Given the description of an element on the screen output the (x, y) to click on. 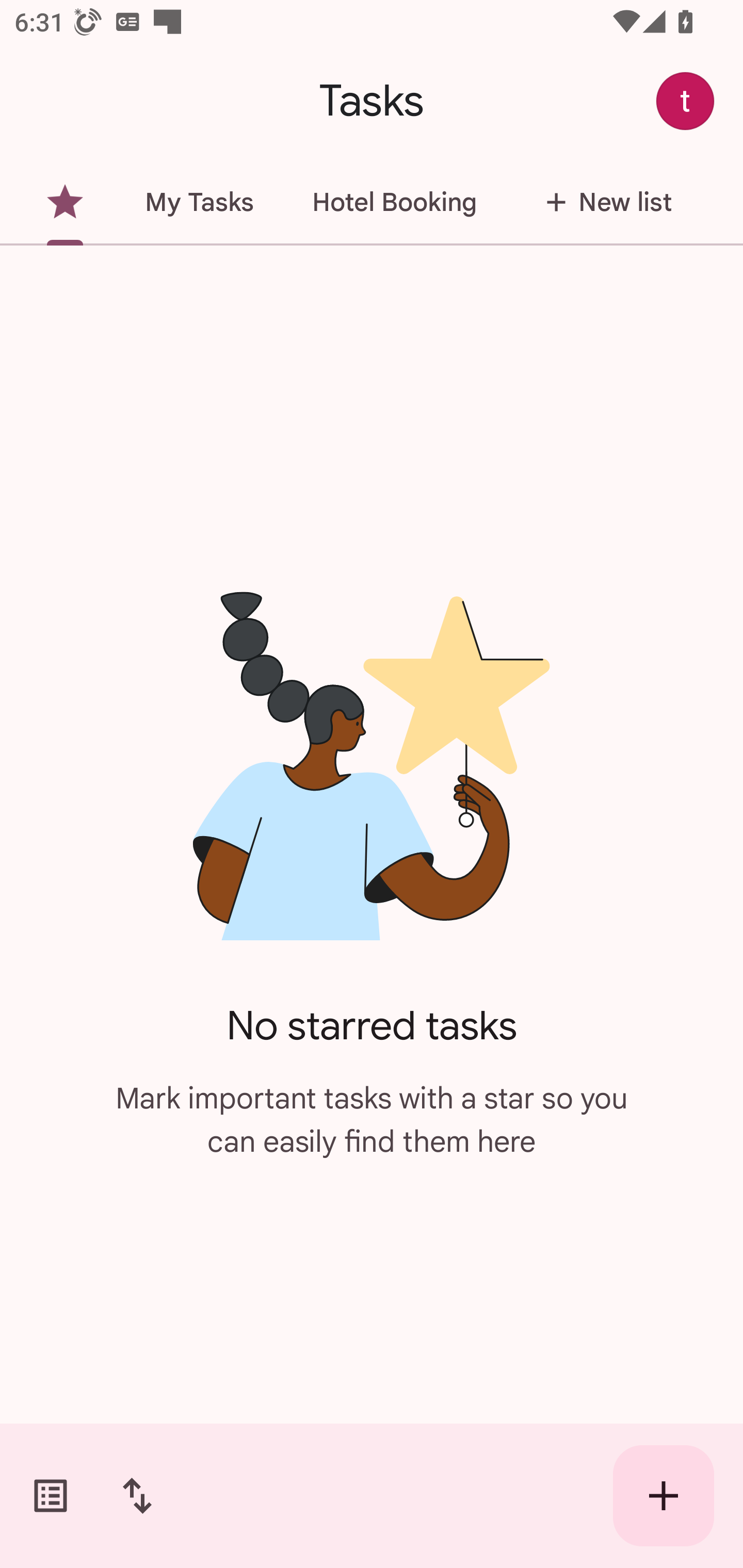
My Tasks (199, 202)
Hotel Booking (394, 202)
New list (602, 202)
Switch task lists (50, 1495)
Create new task (663, 1495)
Change sort order (136, 1495)
